Given the description of an element on the screen output the (x, y) to click on. 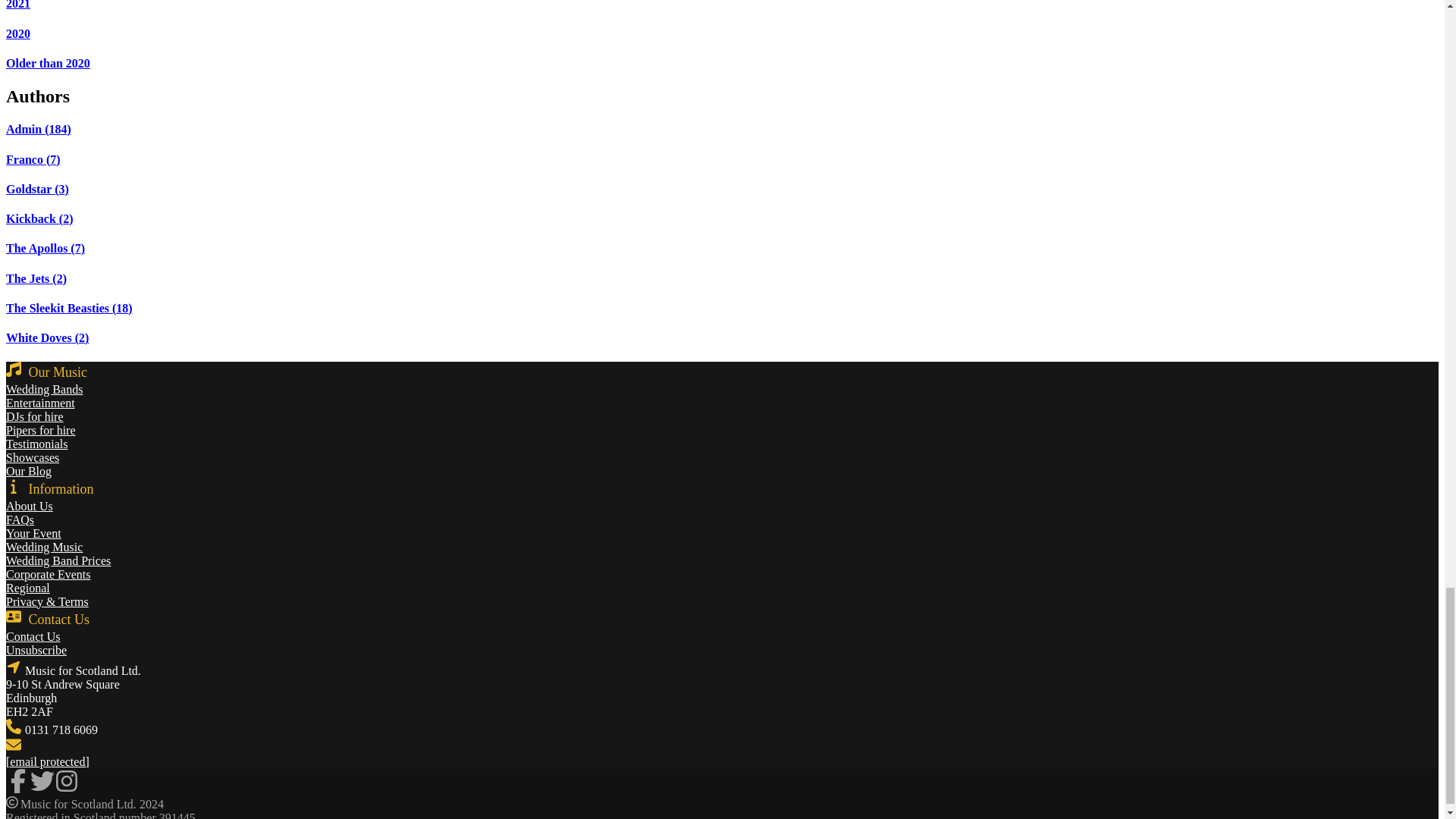
2020 (17, 33)
Older than 2020 (47, 62)
Find Music For Scotland on Instagram (66, 780)
Find Music For Scotlandon Facebook (17, 788)
Find Music For Scotland on Twitter (42, 788)
2021 (17, 4)
